Given the description of an element on the screen output the (x, y) to click on. 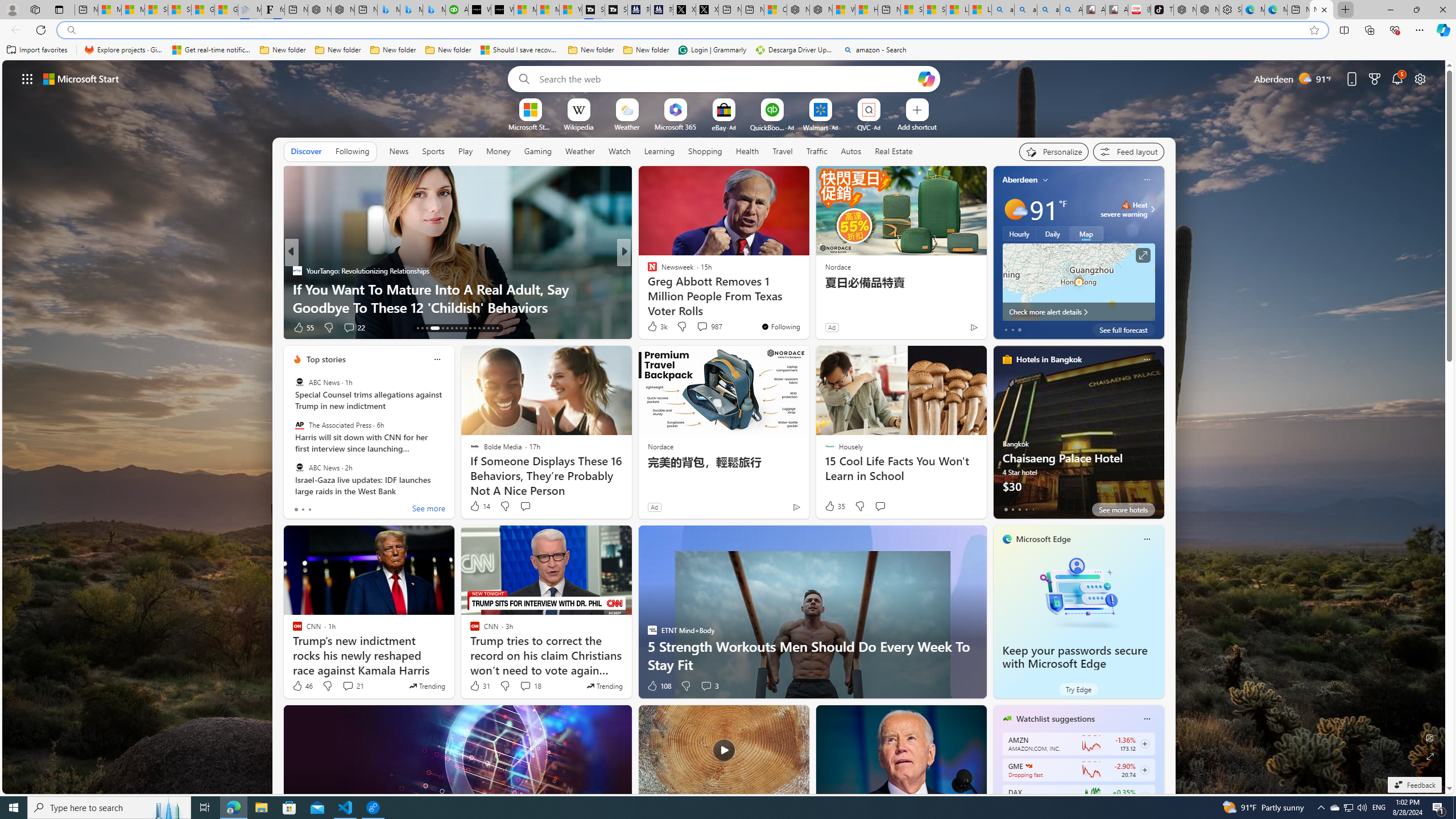
Play (465, 151)
Traffic (816, 151)
View comments 174 Comment (703, 327)
Huge shark washes ashore at New York City beach | Watch (866, 9)
You're following The Weather Channel (949, 329)
PsychLove (647, 270)
Keep your passwords secure with Microsoft Edge (1074, 657)
79 Like (652, 327)
AutomationID: tab-29 (497, 328)
AutomationID: tab-26 (483, 328)
